Given the description of an element on the screen output the (x, y) to click on. 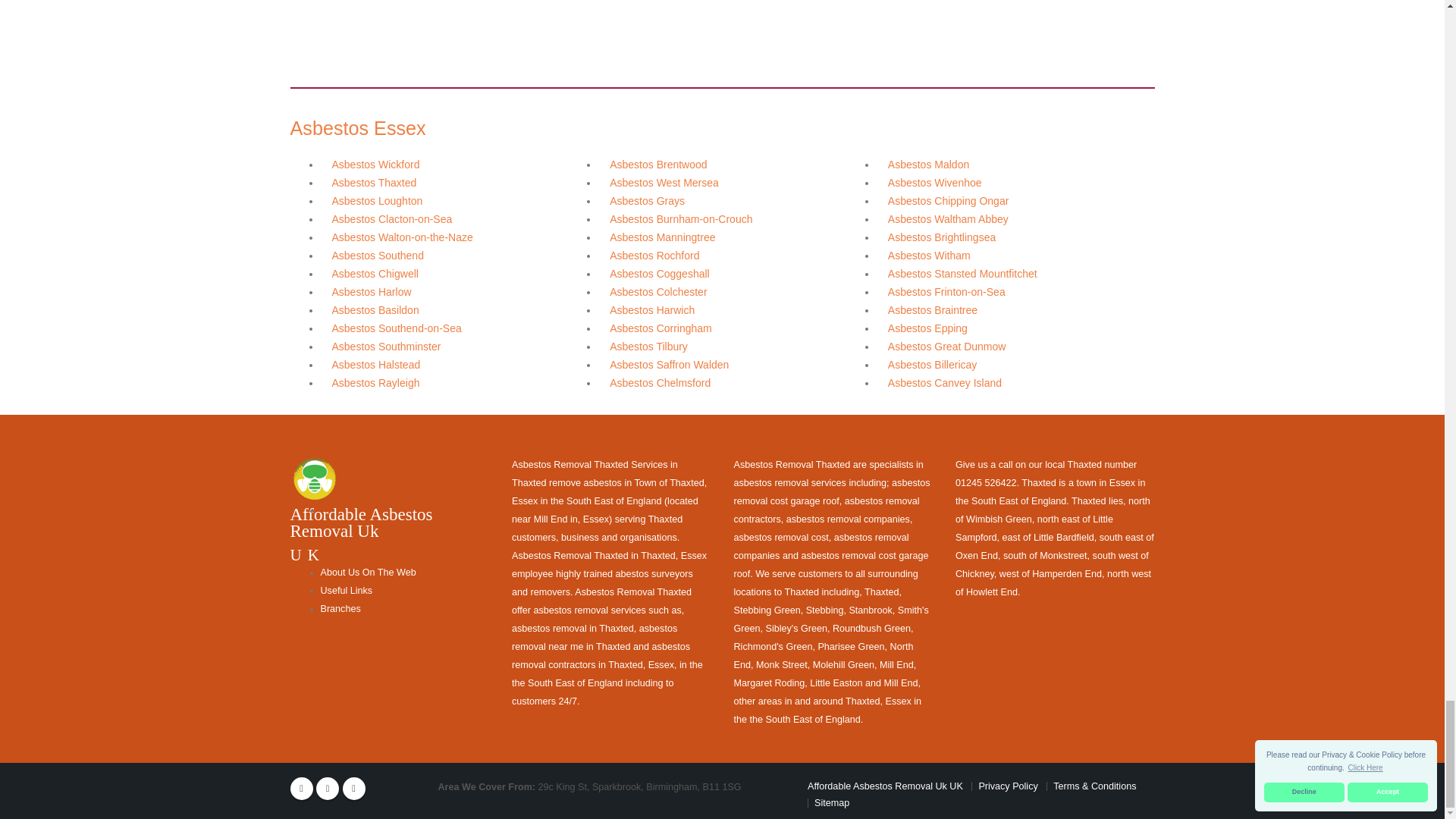
Linkedin (353, 788)
Facebook (301, 788)
Twitter (327, 788)
